Given the description of an element on the screen output the (x, y) to click on. 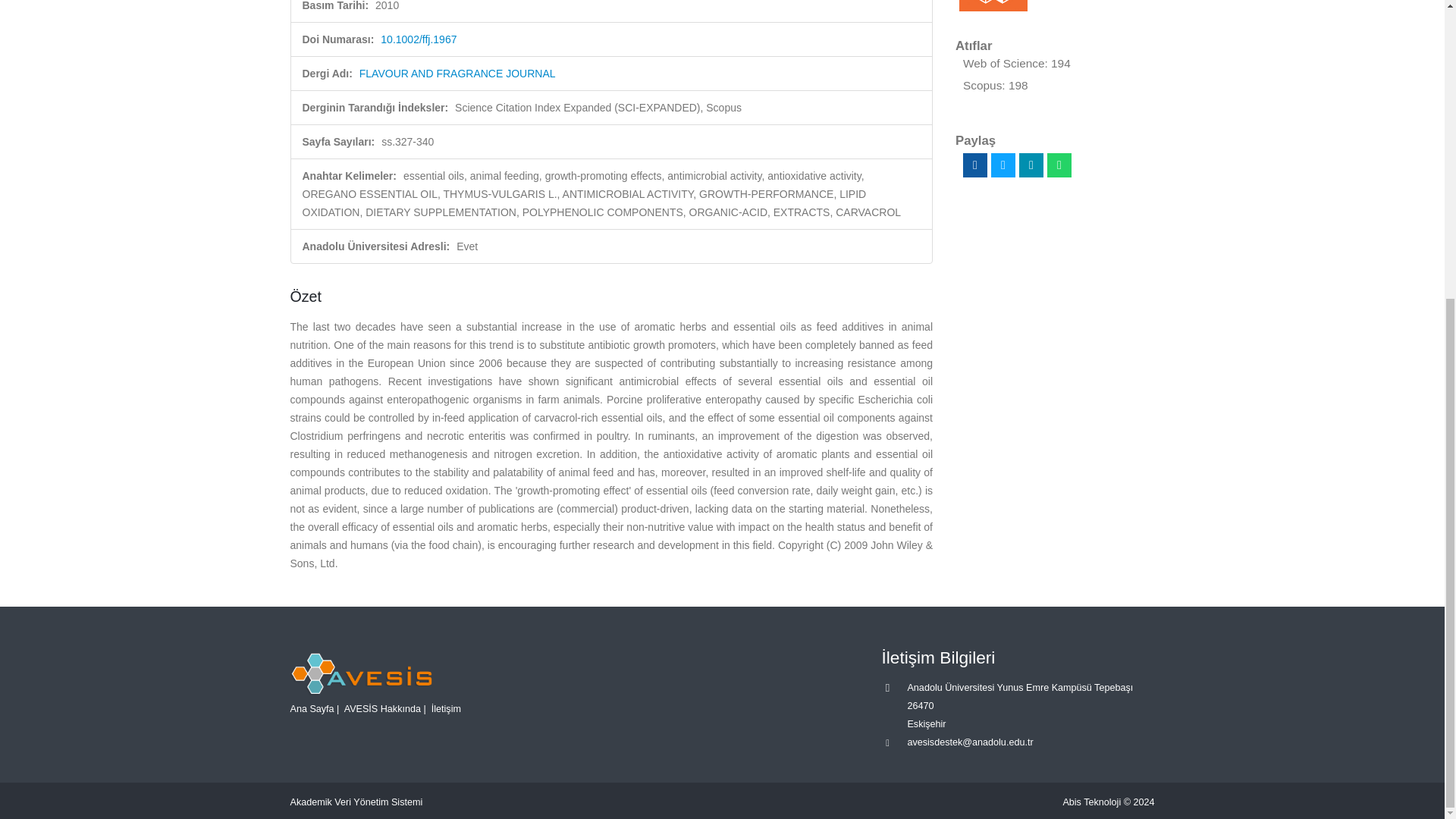
FLAVOUR AND FRAGRANCE JOURNAL (457, 73)
Abis Teknoloji (1091, 801)
Ana Sayfa (311, 708)
